Given the description of an element on the screen output the (x, y) to click on. 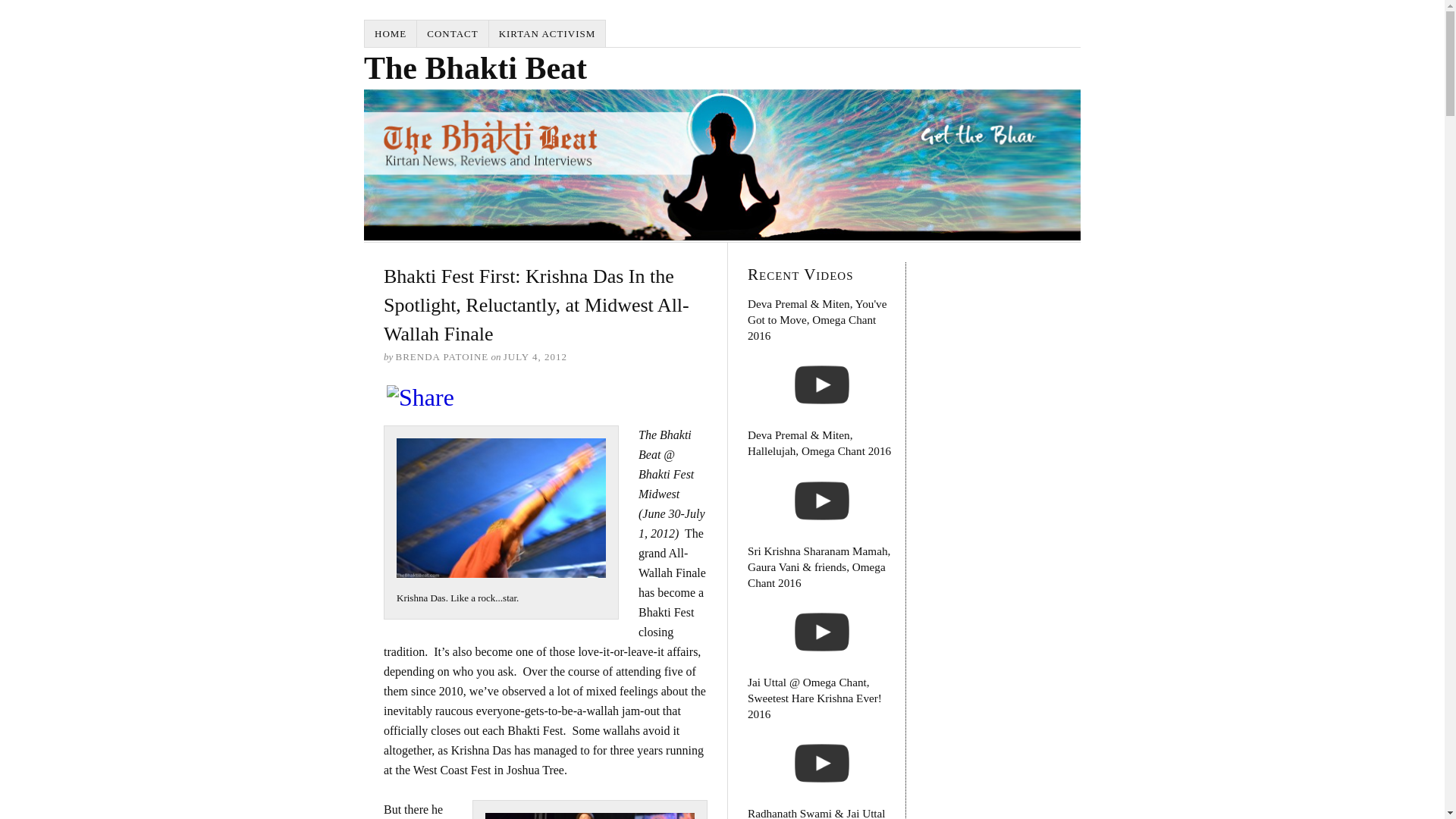
KIRTAN ACTIVISM (548, 33)
CONTACT (451, 33)
Bhakti Fest Midwest Day 3-slr 689 (589, 816)
2012-07-04 (535, 356)
HOME (390, 33)
Bhakti Fest Midwest Day 3-slr 722 (500, 508)
